Given the description of an element on the screen output the (x, y) to click on. 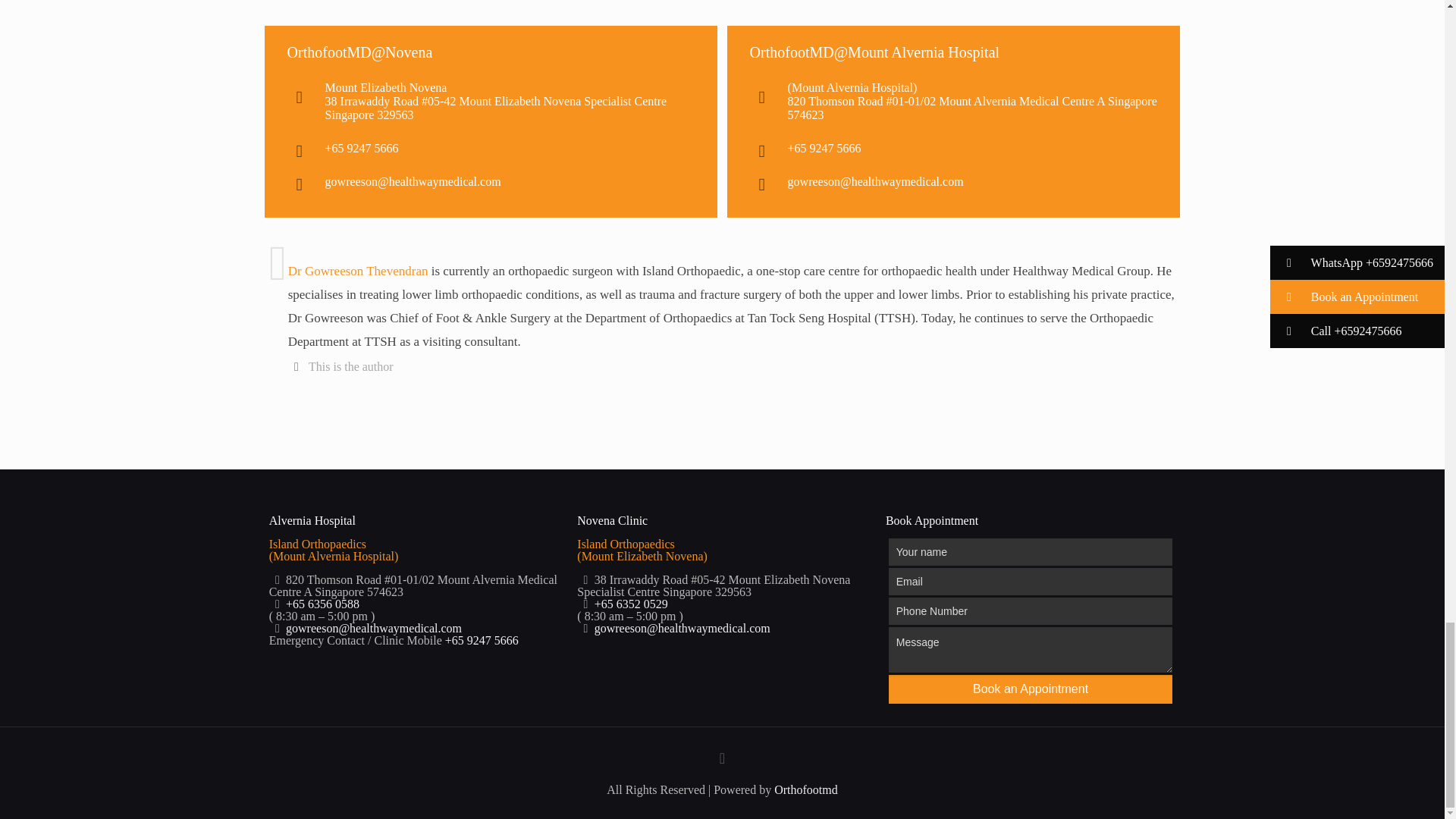
Book an Appointment (1030, 688)
